Given the description of an element on the screen output the (x, y) to click on. 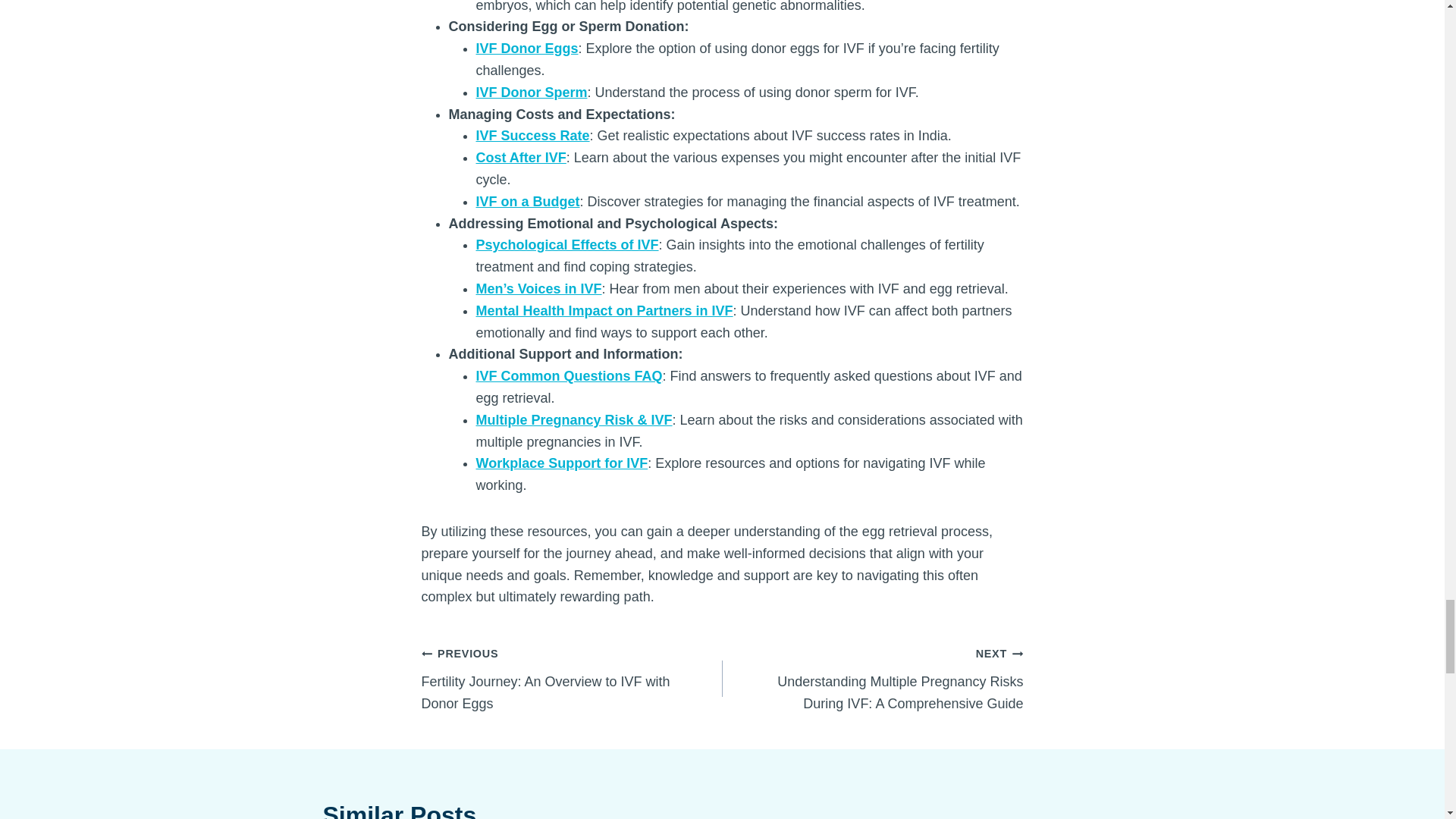
IVF Donor Eggs (527, 48)
Mental Health Impact on Partners in IVF (604, 310)
IVF Success Rate (532, 135)
IVF Donor Sperm (532, 92)
Cost After IVF (521, 157)
Psychological Effects of IVF (567, 244)
IVF Common Questions FAQ (569, 376)
IVF on a Budget (527, 201)
Workplace Support for IVF (561, 462)
